Given the description of an element on the screen output the (x, y) to click on. 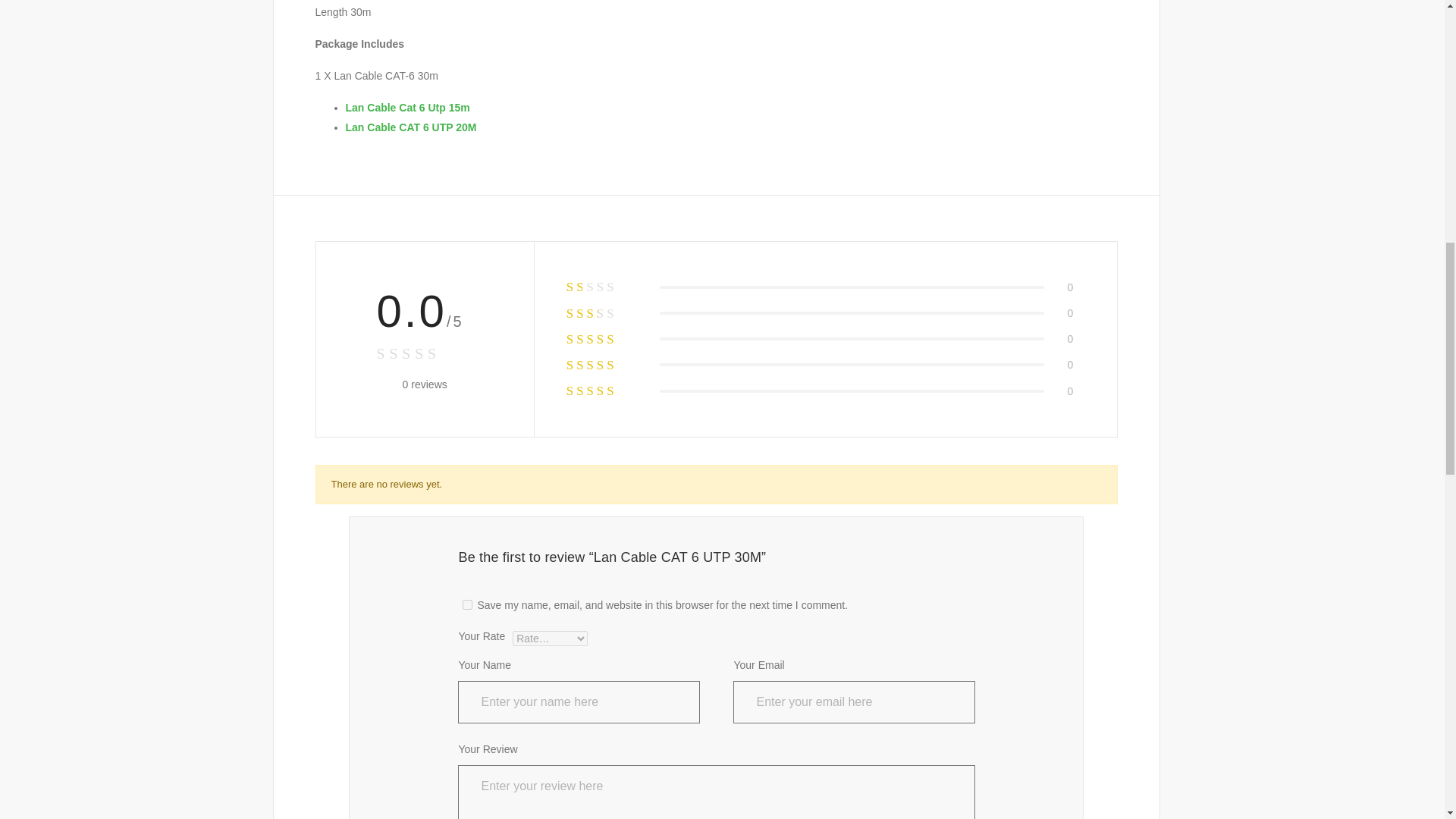
Rated 2 out of 5 (605, 313)
Rated 4 out of 5 (605, 364)
Rated 0.0 out of 5 (423, 354)
Rated 5 out of 5 (605, 390)
Rated 1 out of 5 (605, 286)
yes (467, 604)
Rated 3 out of 5 (605, 339)
